Given the description of an element on the screen output the (x, y) to click on. 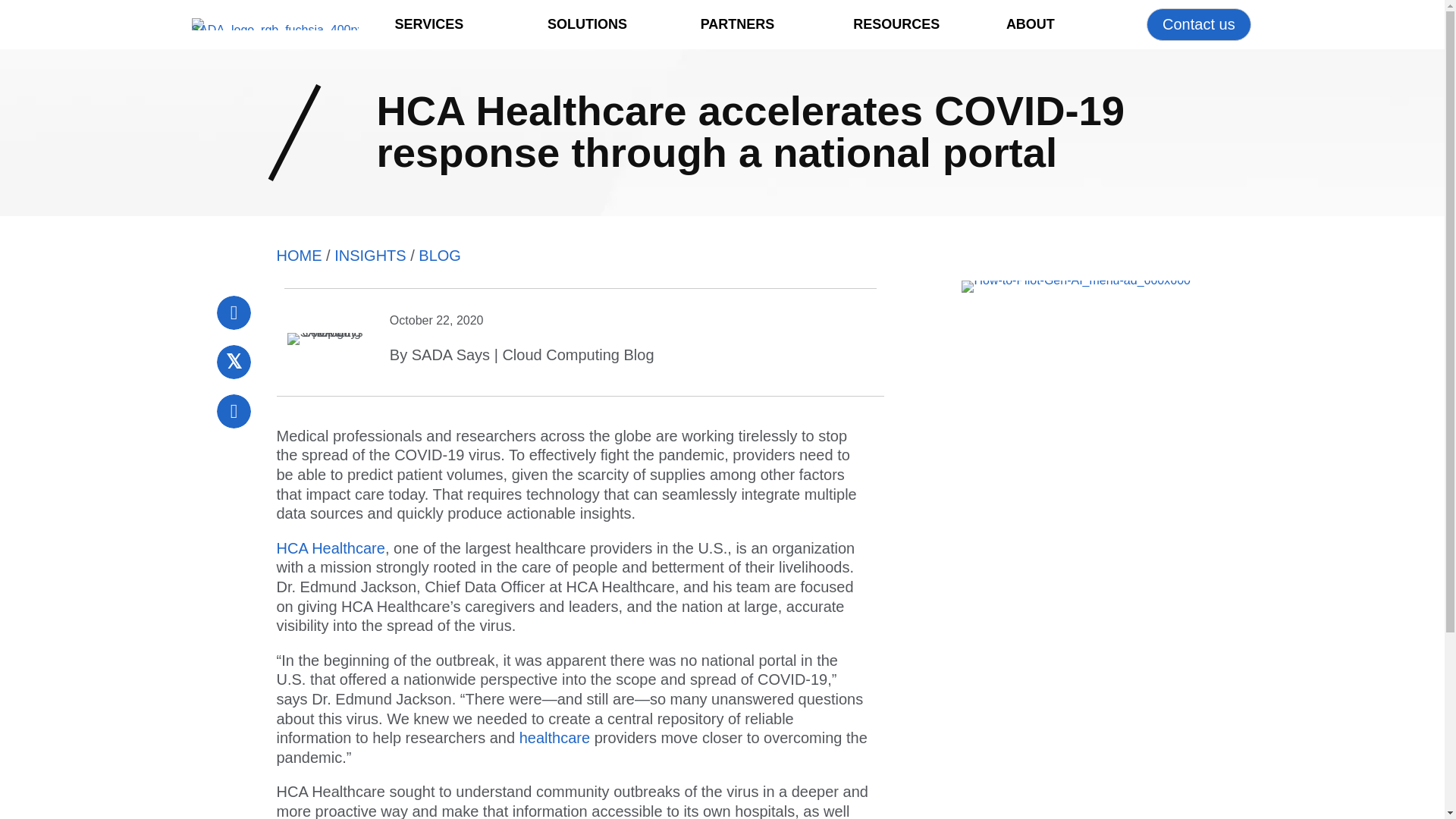
SERVICES (428, 24)
